Given the description of an element on the screen output the (x, y) to click on. 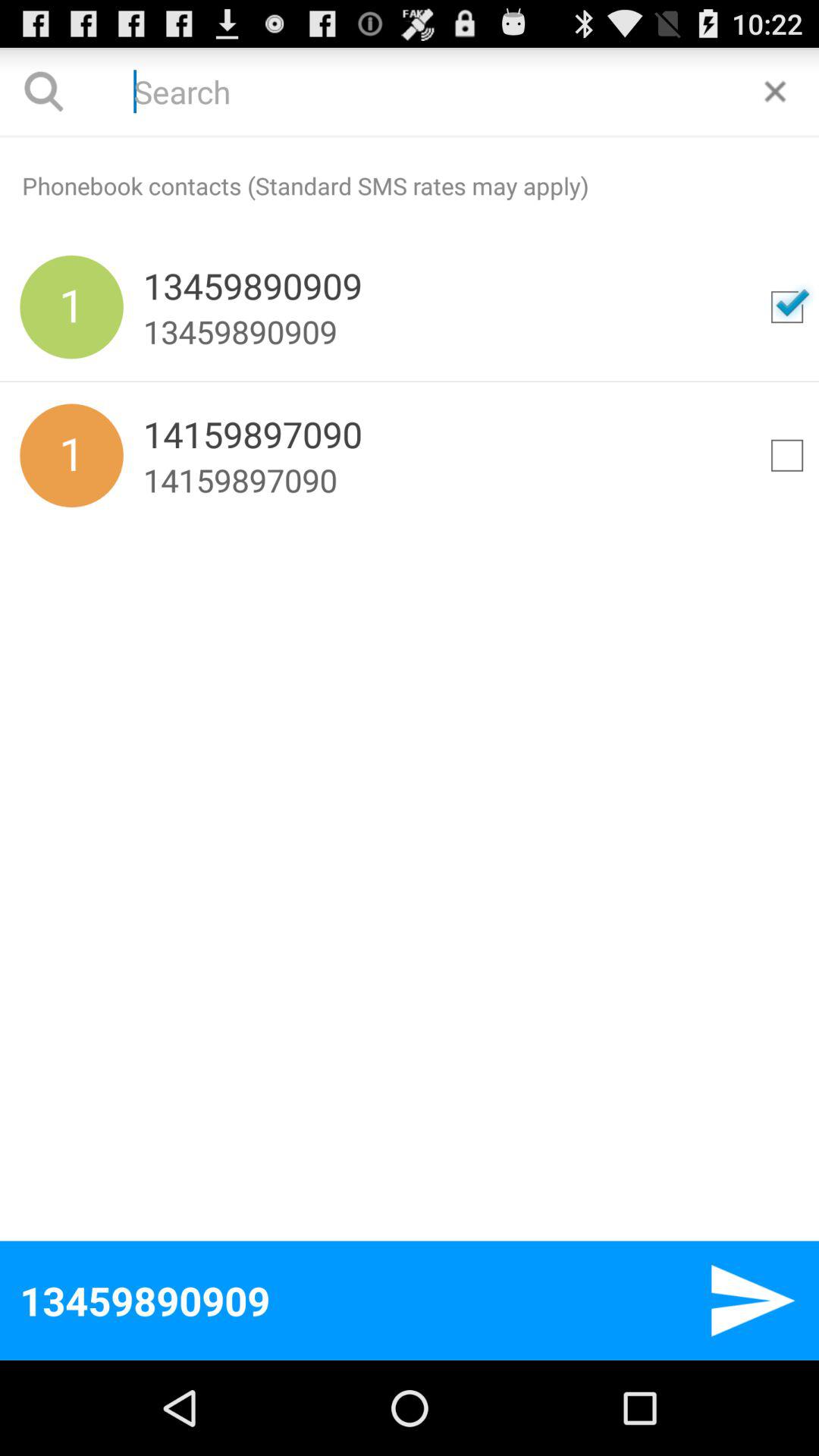
tap to select (787, 455)
